Given the description of an element on the screen output the (x, y) to click on. 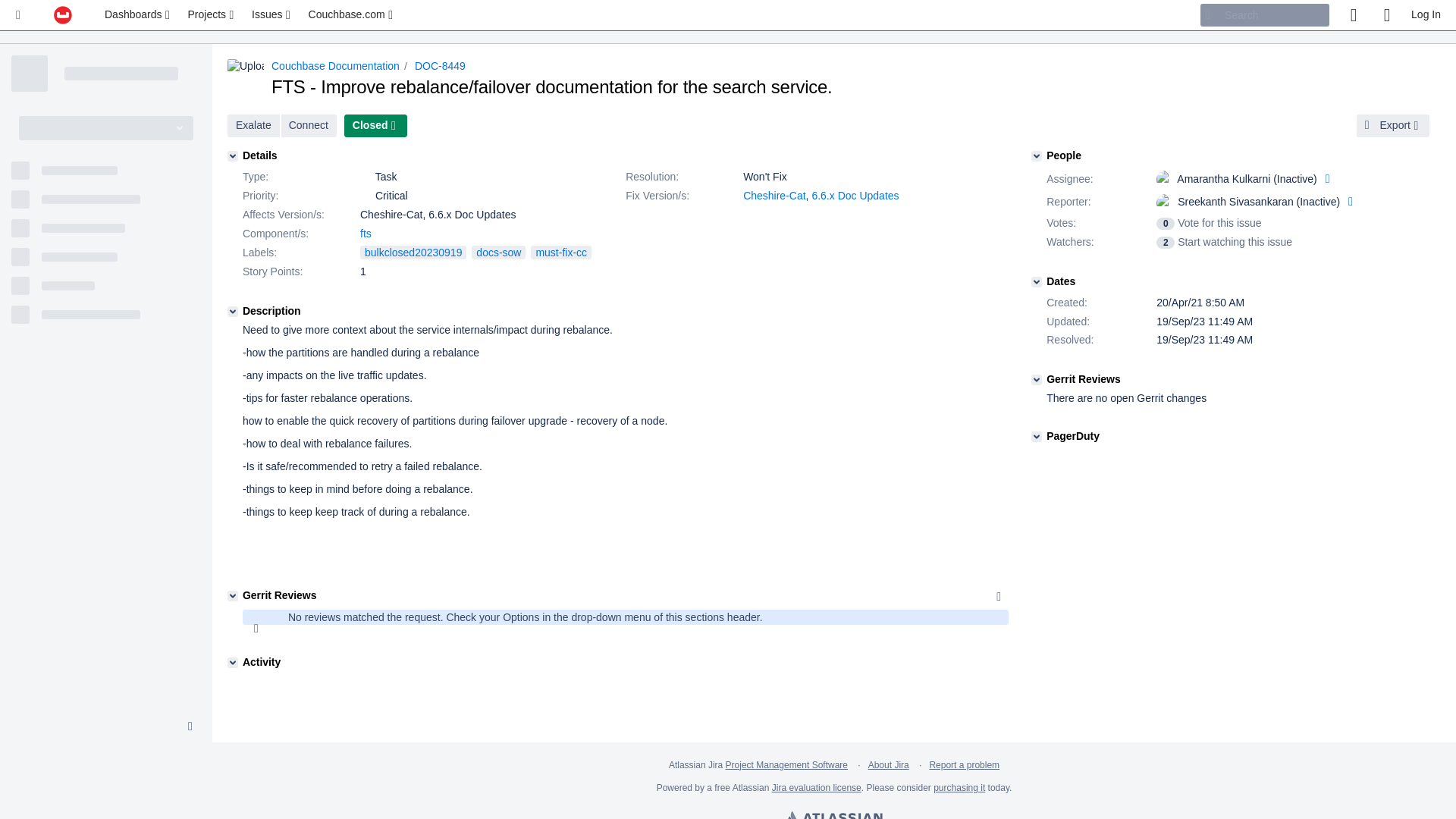
Projects (212, 15)
Exalate (253, 125)
Cheshire-Cat (773, 195)
Help (1386, 15)
6.6.x Doc Updates (854, 195)
Give feedback to Atlassian (1353, 15)
Linked Applications (18, 15)
Issues (271, 15)
Connect (308, 125)
Critical - Crashes, loss of data, severe memory leak. (365, 195)
View and manage your dashboards (138, 15)
6.6.x Doc Updates  (854, 195)
Cheshire-Cat Release version 7.0 (773, 195)
Closed (375, 125)
Search (1264, 15)
